Given the description of an element on the screen output the (x, y) to click on. 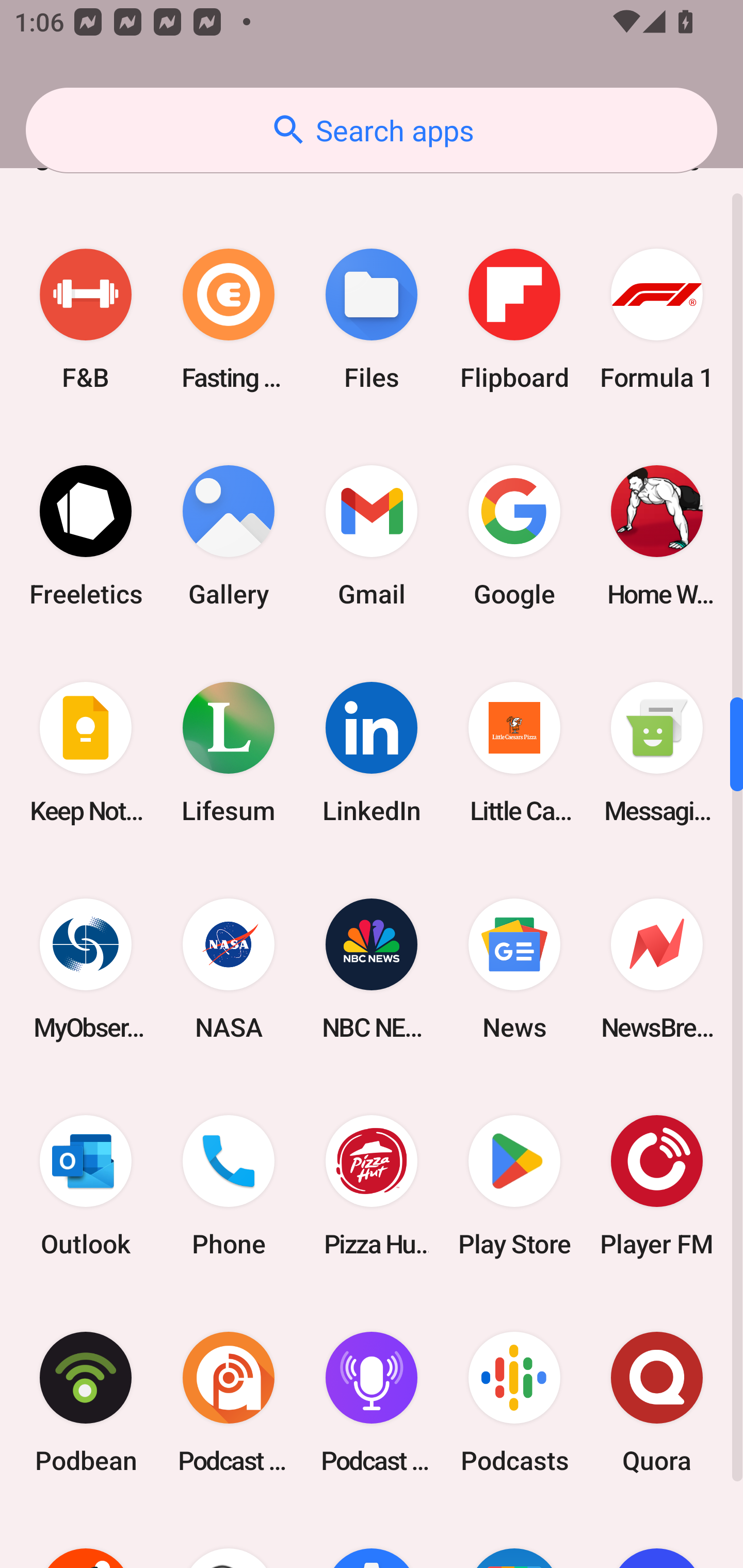
  Search apps (371, 130)
F&B (85, 319)
Fasting Coach (228, 319)
Files (371, 319)
Flipboard (514, 319)
Formula 1 (656, 319)
Freeletics (85, 536)
Gallery (228, 536)
Gmail (371, 536)
Google (514, 536)
Home Workout (656, 536)
Keep Notes (85, 752)
Lifesum (228, 752)
LinkedIn (371, 752)
Little Caesars Pizza (514, 752)
Messaging (656, 752)
MyObservatory (85, 968)
NASA (228, 968)
NBC NEWS (371, 968)
News (514, 968)
NewsBreak (656, 968)
Outlook (85, 1185)
Phone (228, 1185)
Pizza Hut HK & Macau (371, 1185)
Play Store (514, 1185)
Player FM (656, 1185)
Podbean (85, 1401)
Podcast Addict (228, 1401)
Podcast Player (371, 1401)
Podcasts (514, 1401)
Quora (656, 1401)
